Given the description of an element on the screen output the (x, y) to click on. 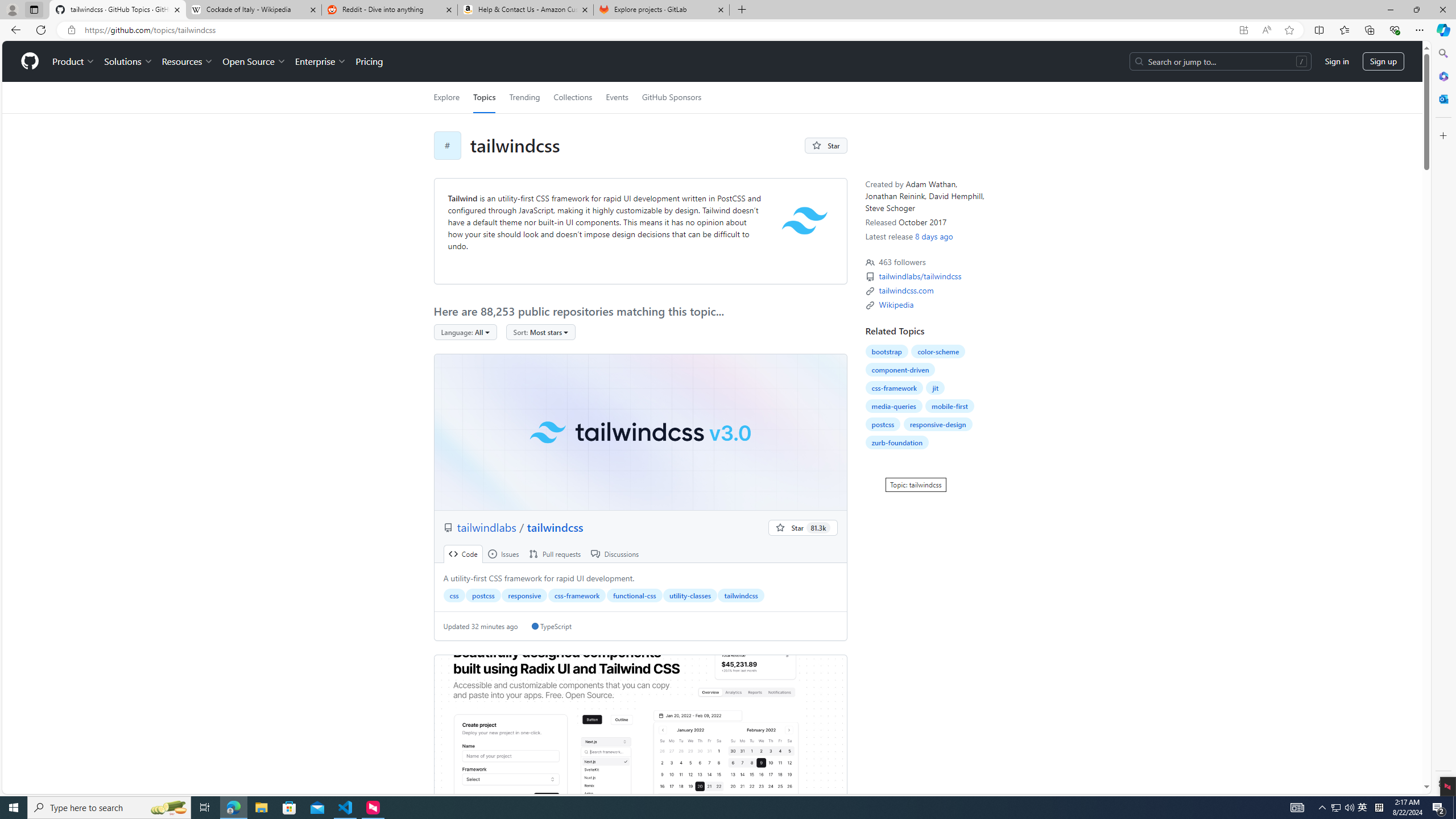
Resources (187, 60)
responsive-design (937, 423)
 Issues (502, 553)
 Discussions (615, 553)
Trending (524, 97)
Sign up (1382, 61)
Product (74, 60)
Open Source (254, 60)
 Pull requests (555, 553)
tailwindlabs/tailwindcss (920, 275)
postcss (882, 423)
